Given the description of an element on the screen output the (x, y) to click on. 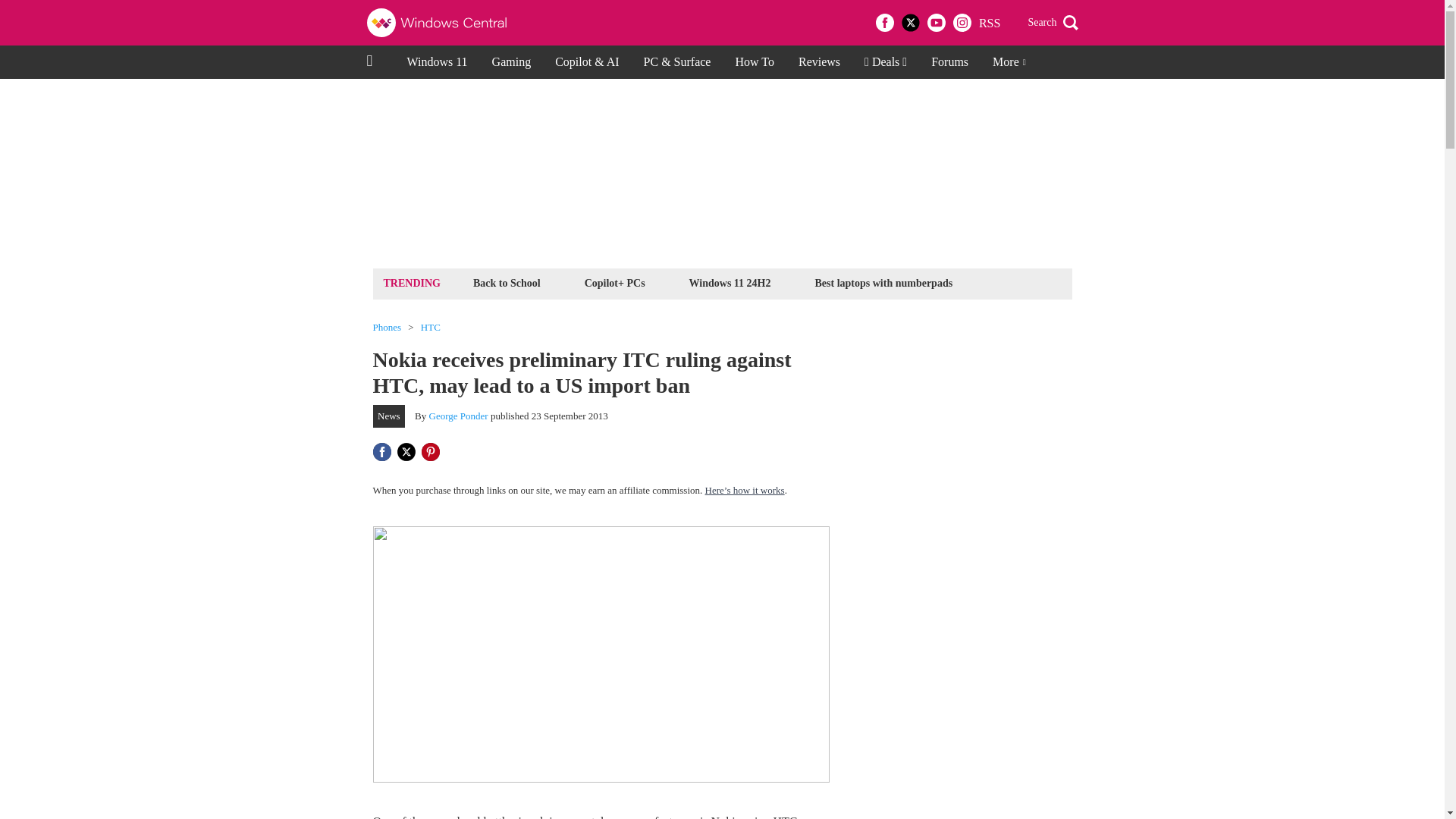
Windows 11 (436, 61)
Back to School (506, 282)
How To (754, 61)
George Ponder (458, 415)
Windows 11 24H2 (730, 282)
News (389, 415)
RSS (989, 22)
Reviews (818, 61)
Forums (948, 61)
Gaming (511, 61)
